Given the description of an element on the screen output the (x, y) to click on. 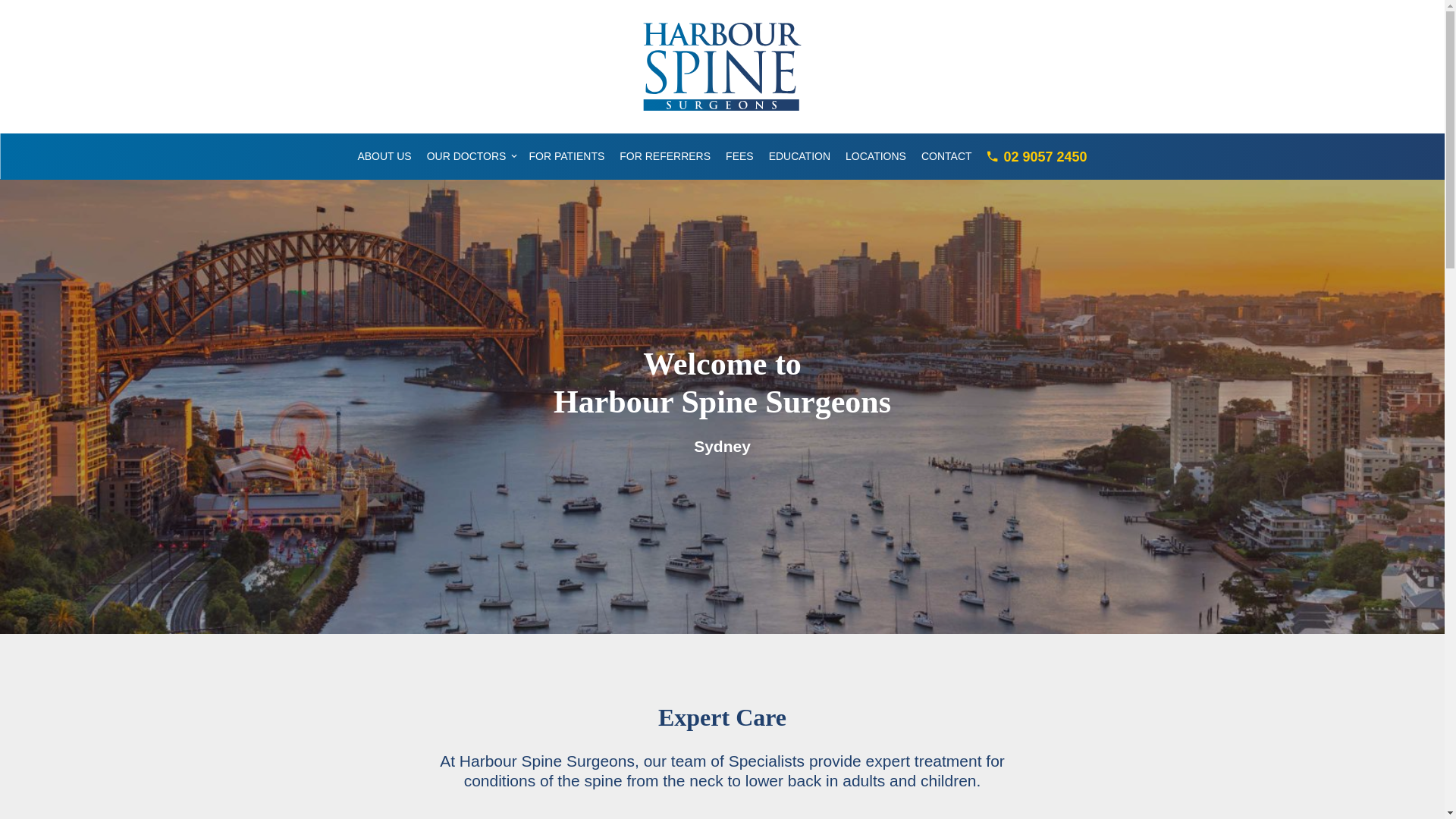
02 9057 2450 Element type: text (1035, 156)
CONTACT Element type: text (946, 155)
FEES Element type: text (739, 155)
ABOUT US Element type: text (384, 155)
FOR PATIENTS Element type: text (566, 155)
EDUCATION Element type: text (799, 155)
OUR DOCTORS Element type: text (466, 155)
FOR REFERRERS Element type: text (664, 155)
LOCATIONS Element type: text (875, 155)
